Given the description of an element on the screen output the (x, y) to click on. 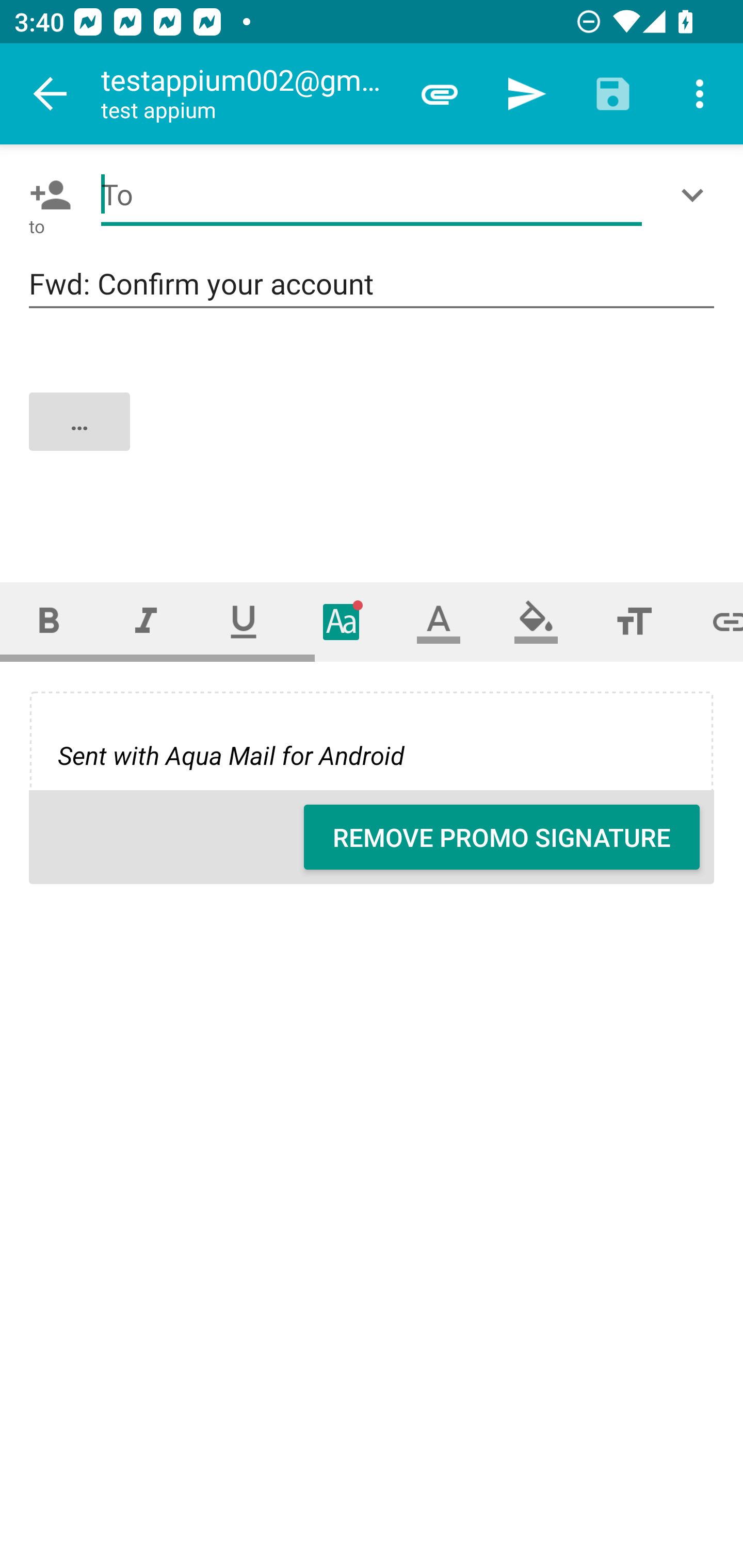
Navigate up (50, 93)
testappium002@gmail.com test appium (248, 93)
Attach (439, 93)
Send (525, 93)
Save (612, 93)
More options (699, 93)
Pick contact: To (46, 195)
Show/Add CC/BCC (696, 195)
To (371, 195)
Fwd: Confirm your account (371, 284)

…
 (372, 438)
Bold (48, 621)
Italic (145, 621)
Underline (243, 621)
Typeface (font) (341, 621)
Text color (438, 621)
Fill color (536, 621)
Font size (633, 621)
REMOVE PROMO SIGNATURE (501, 837)
